Given the description of an element on the screen output the (x, y) to click on. 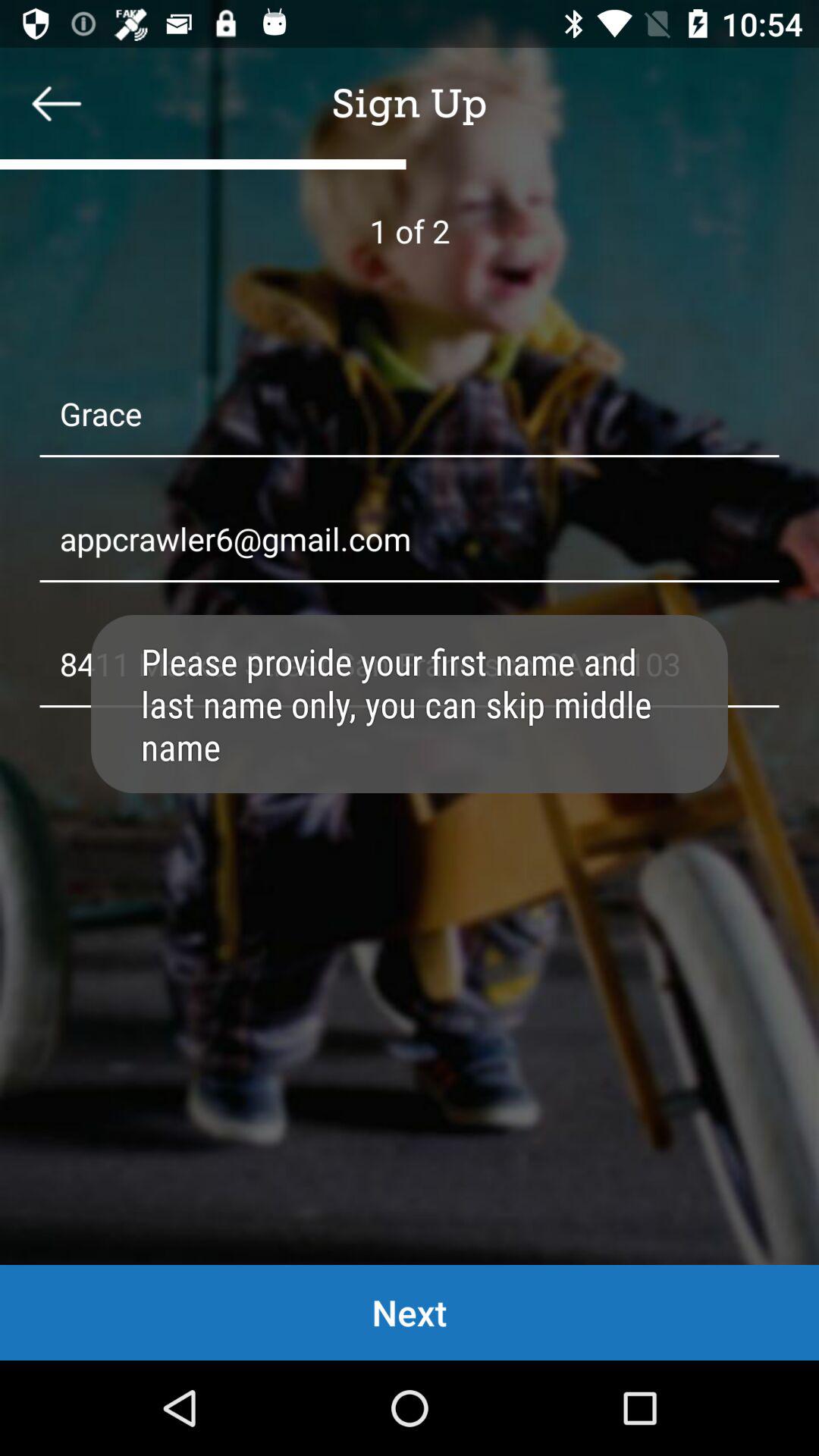
go back (56, 103)
